Given the description of an element on the screen output the (x, y) to click on. 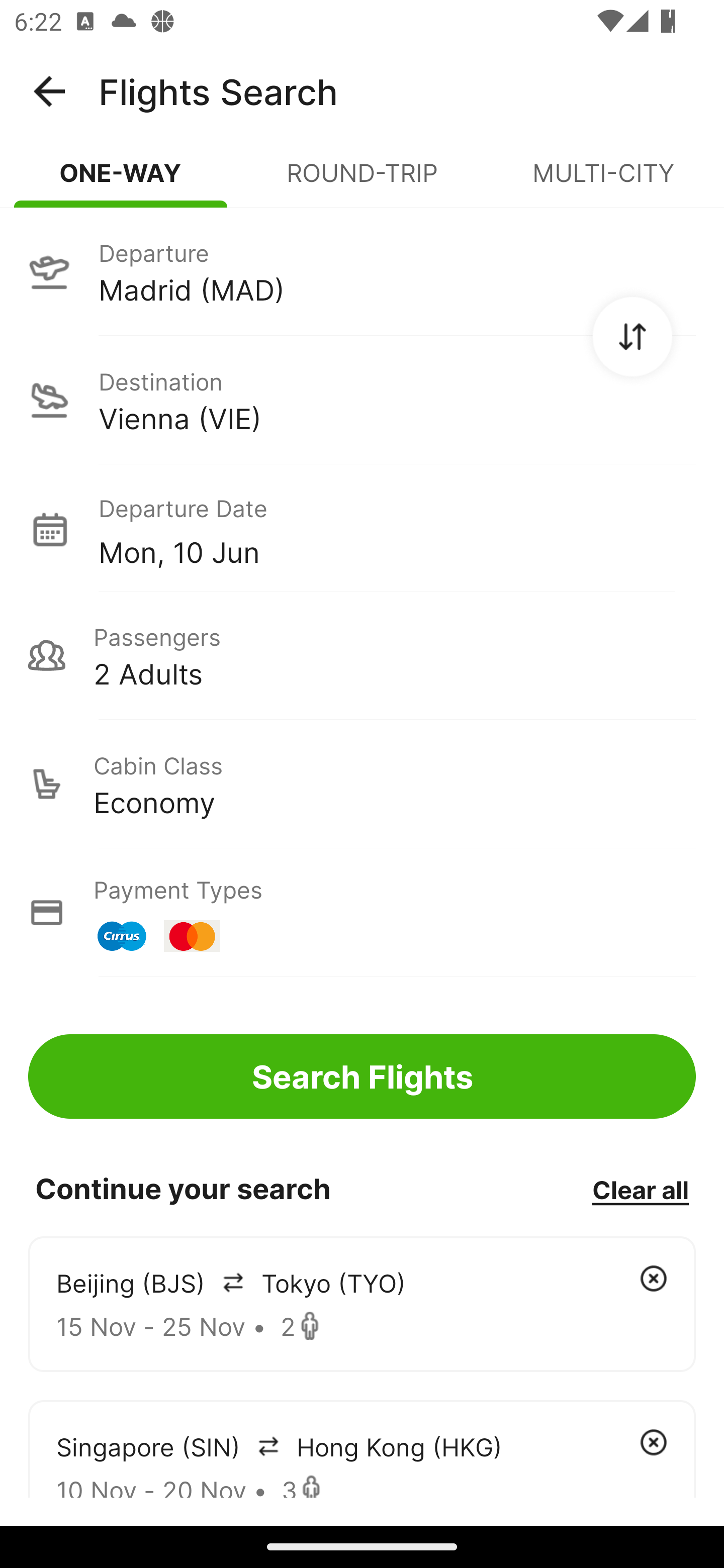
ONE-WAY (120, 180)
ROUND-TRIP (361, 180)
MULTI-CITY (603, 180)
Departure Madrid (MAD) (362, 270)
Destination Vienna (VIE) (362, 400)
Departure Date Mon, 10 Jun (396, 528)
Passengers 2 Adults (362, 655)
Cabin Class Economy (362, 783)
Payment Types (362, 912)
Search Flights (361, 1075)
Clear all (640, 1189)
